Given the description of an element on the screen output the (x, y) to click on. 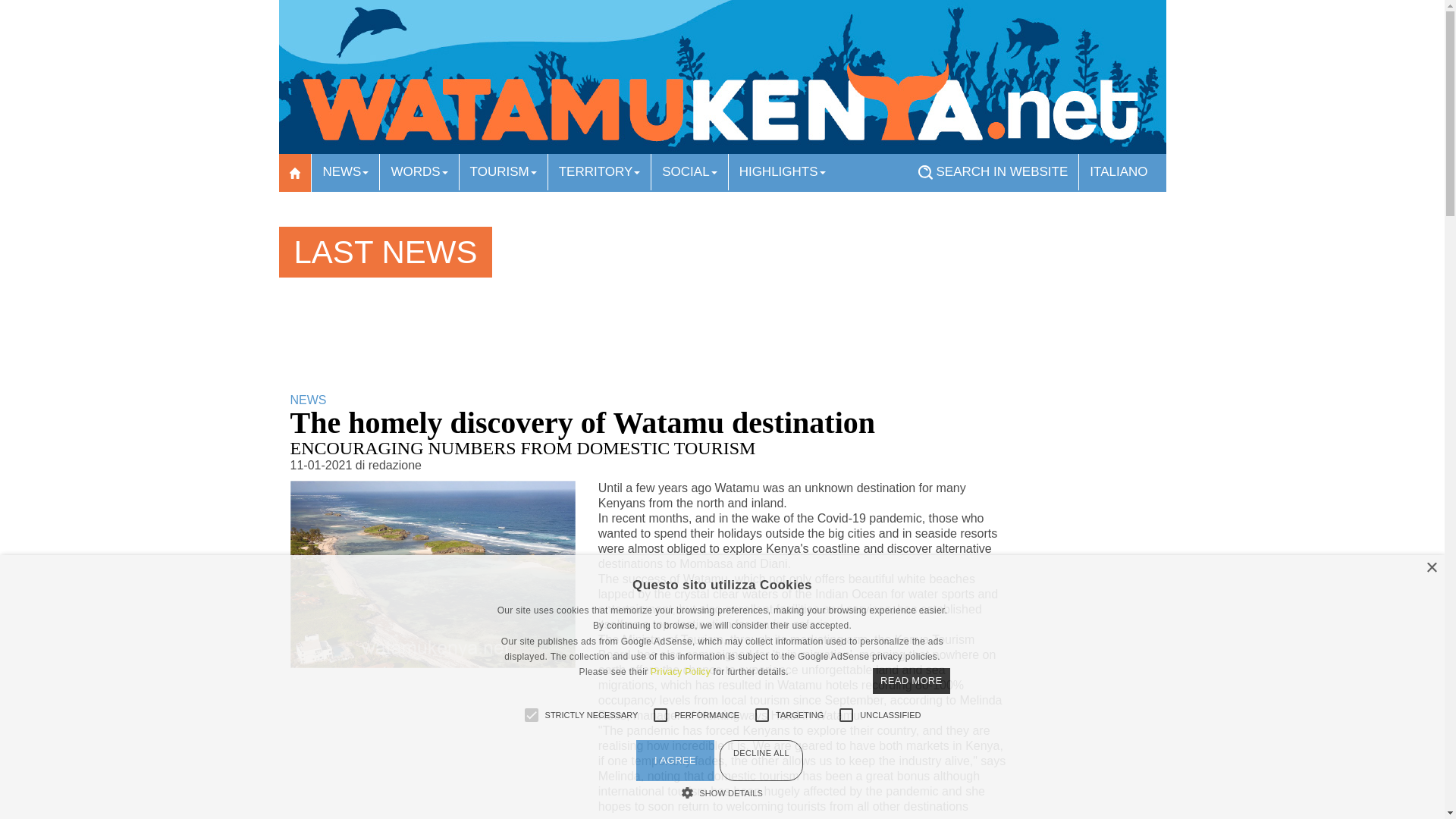
HIGHLIGHTS (782, 171)
ITALIANO (1117, 171)
TOURISM (503, 171)
The homely discovery of Watamu destination (582, 422)
Advertisement (565, 339)
ENCOURAGING NUMBERS FROM DOMESTIC TOURISM (522, 447)
WORDS (419, 171)
TERRITORY (599, 171)
SEARCH IN WEBSITE (992, 171)
SOCIAL (688, 171)
NEWS (344, 171)
